Given the description of an element on the screen output the (x, y) to click on. 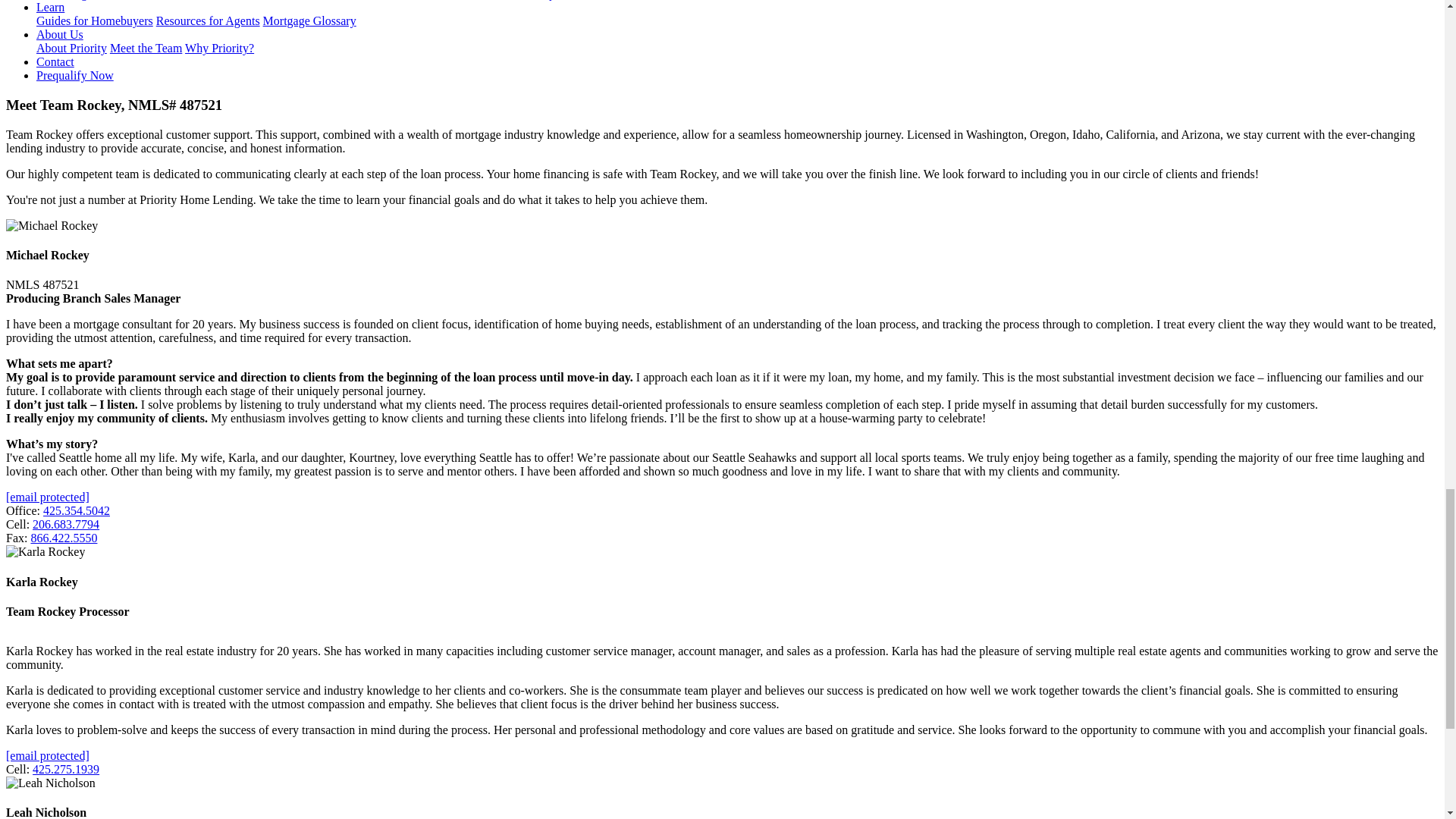
206.683.7794 (65, 523)
866.422.5550 (63, 537)
About Priority (71, 47)
Contact (55, 61)
Guides for Homebuyers (94, 20)
Meet the Team (146, 47)
Learn (50, 6)
Why Priority? (218, 47)
Resources for Agents (207, 20)
Prequalify Now (74, 74)
425.275.1939 (65, 768)
425.354.5042 (76, 510)
About Us (59, 33)
Mortgage Glossary (309, 20)
